Given the description of an element on the screen output the (x, y) to click on. 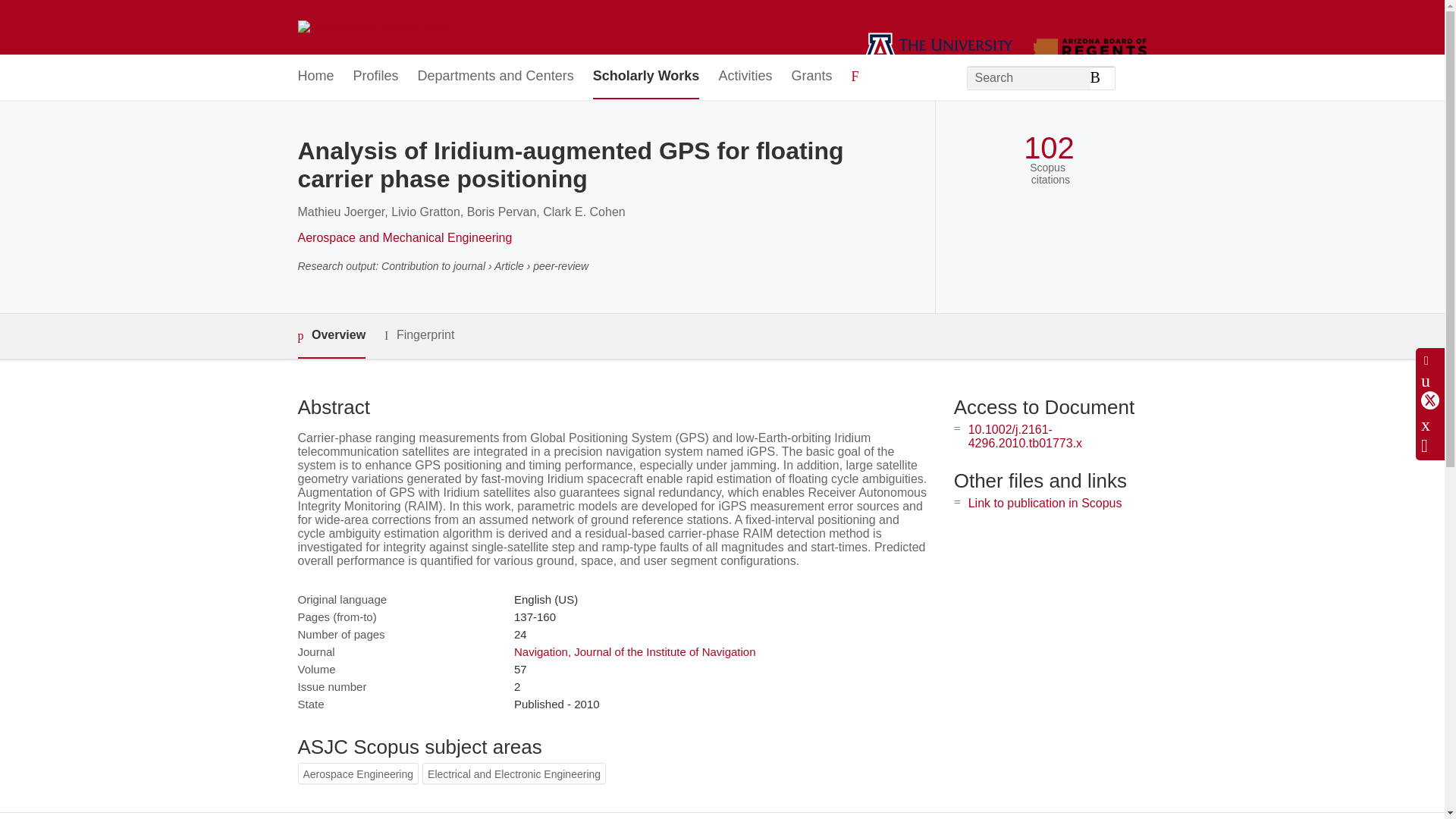
Overview (331, 335)
Scholarly Works (646, 76)
Profiles (375, 76)
102 (1048, 148)
Navigation, Journal of the Institute of Navigation (634, 651)
Fingerprint (419, 335)
Departments and Centers (495, 76)
Grants (810, 76)
University of Arizona Home (373, 27)
